Given the description of an element on the screen output the (x, y) to click on. 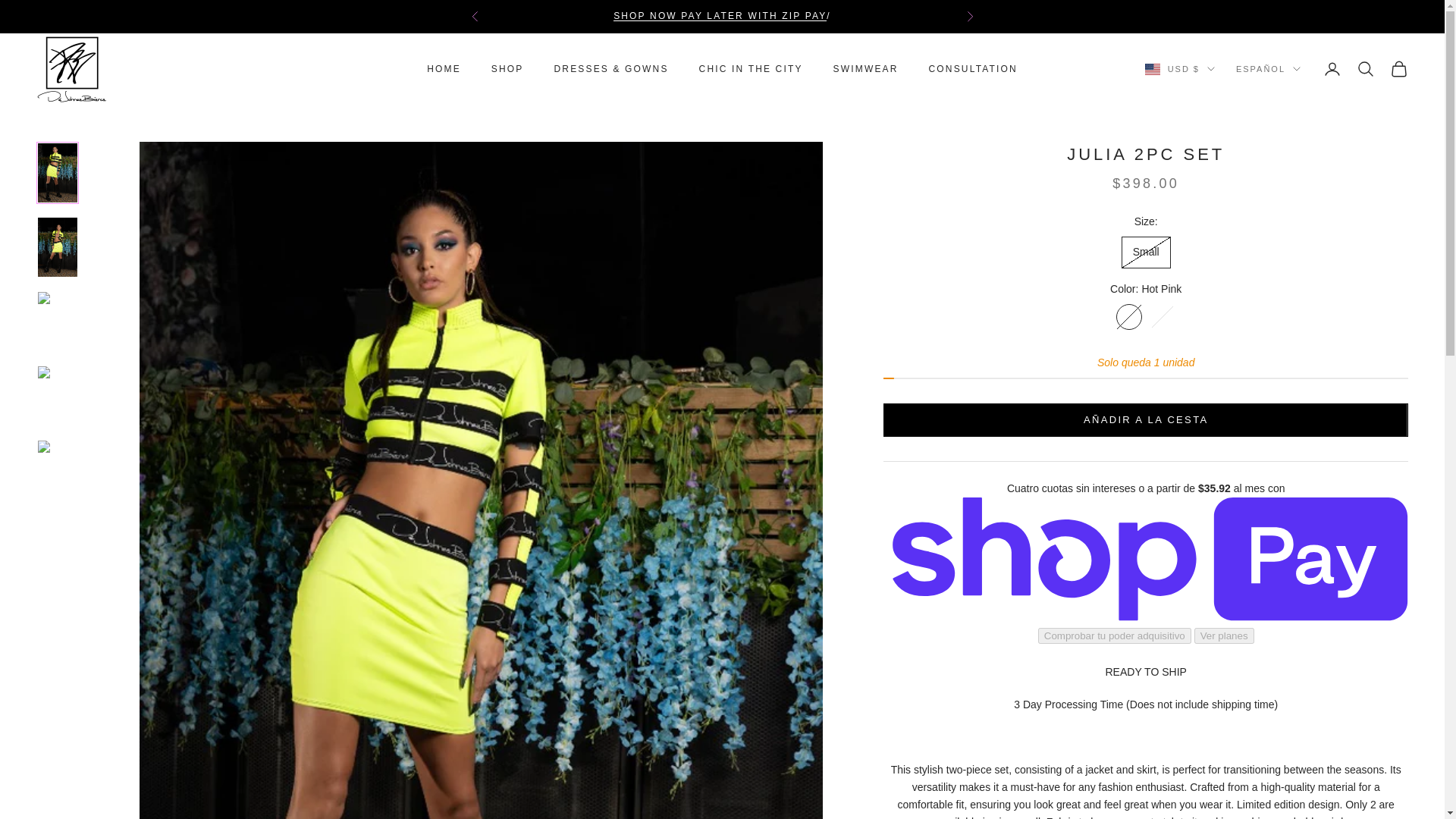
SHOP NOW PAY LATER WITH ZIP PAY (719, 15)
SWIMWEAR (865, 68)
SHOP (508, 68)
CONSULTATION (972, 68)
HOME (443, 68)
CHIC IN THE CITY (750, 68)
